Given the description of an element on the screen output the (x, y) to click on. 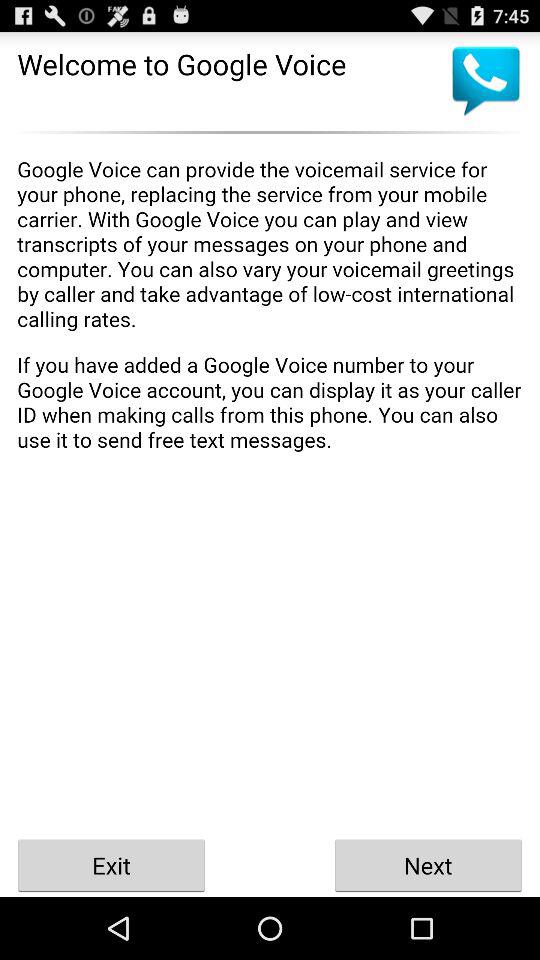
turn off the item to the right of the exit icon (427, 864)
